Given the description of an element on the screen output the (x, y) to click on. 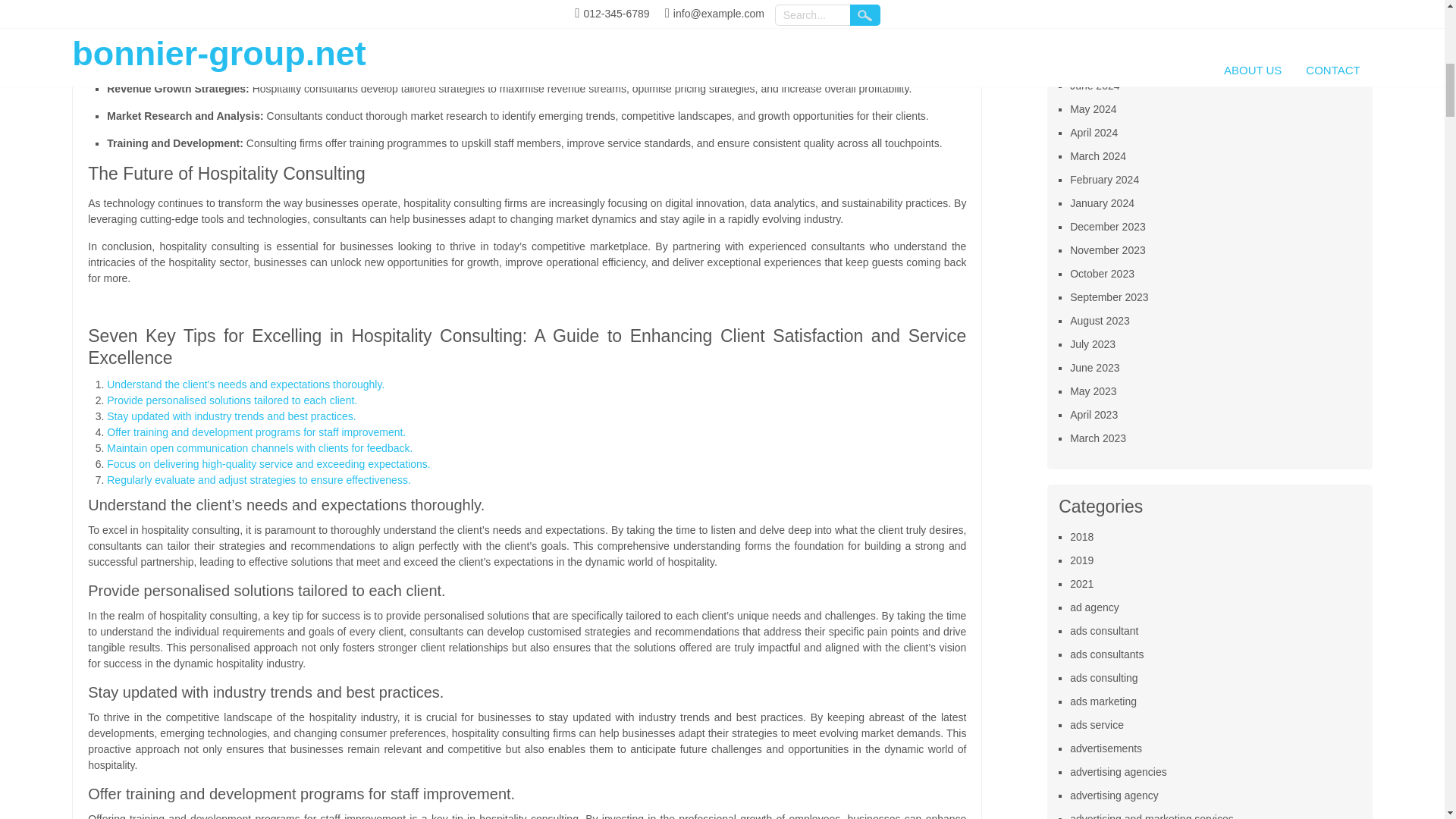
Stay updated with industry trends and best practices. (230, 416)
Provide personalised solutions tailored to each client. (231, 399)
